Given the description of an element on the screen output the (x, y) to click on. 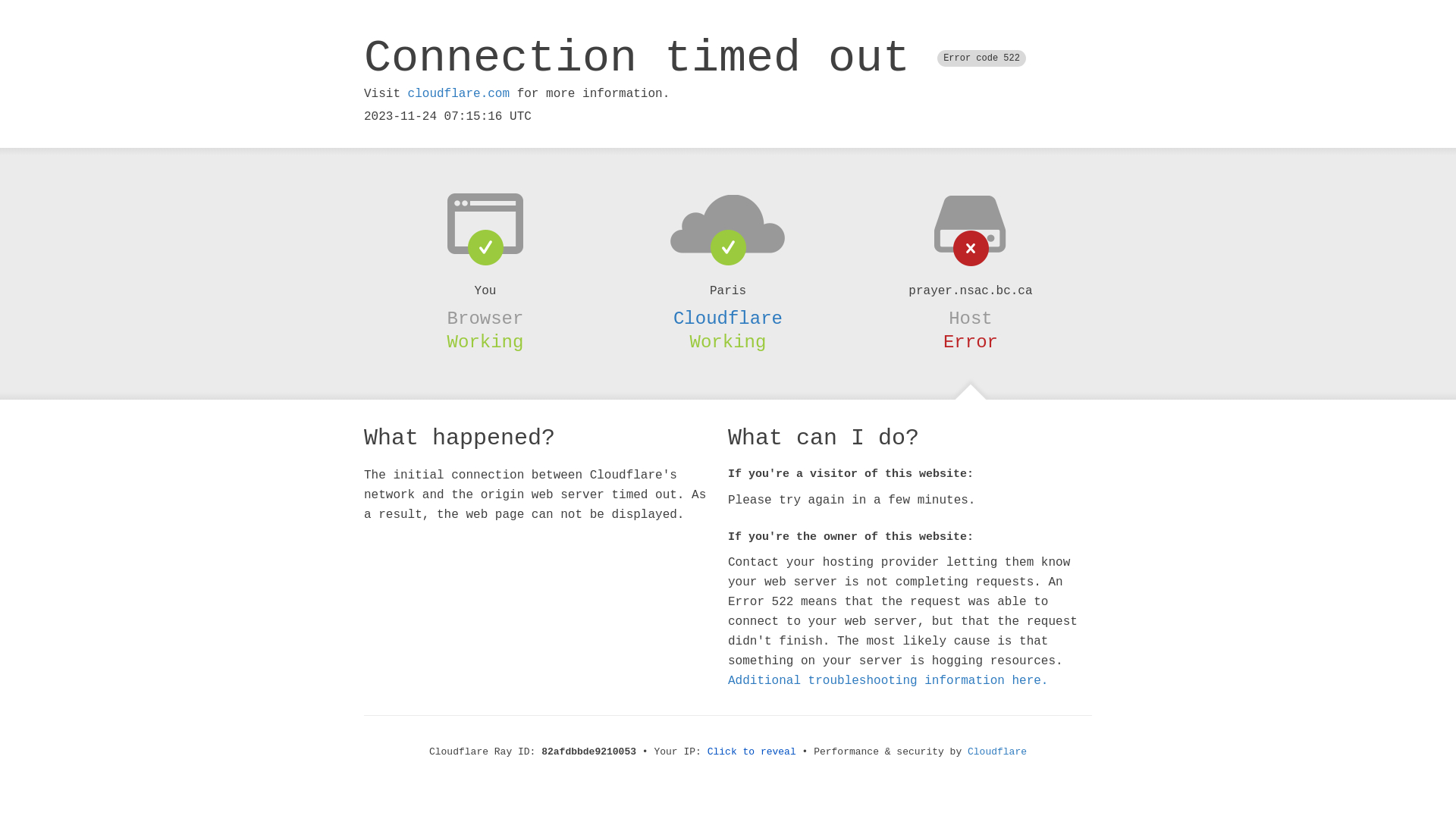
Cloudflare Element type: text (727, 318)
Click to reveal Element type: text (751, 751)
Additional troubleshooting information here. Element type: text (888, 680)
Cloudflare Element type: text (996, 751)
cloudflare.com Element type: text (458, 93)
